Given the description of an element on the screen output the (x, y) to click on. 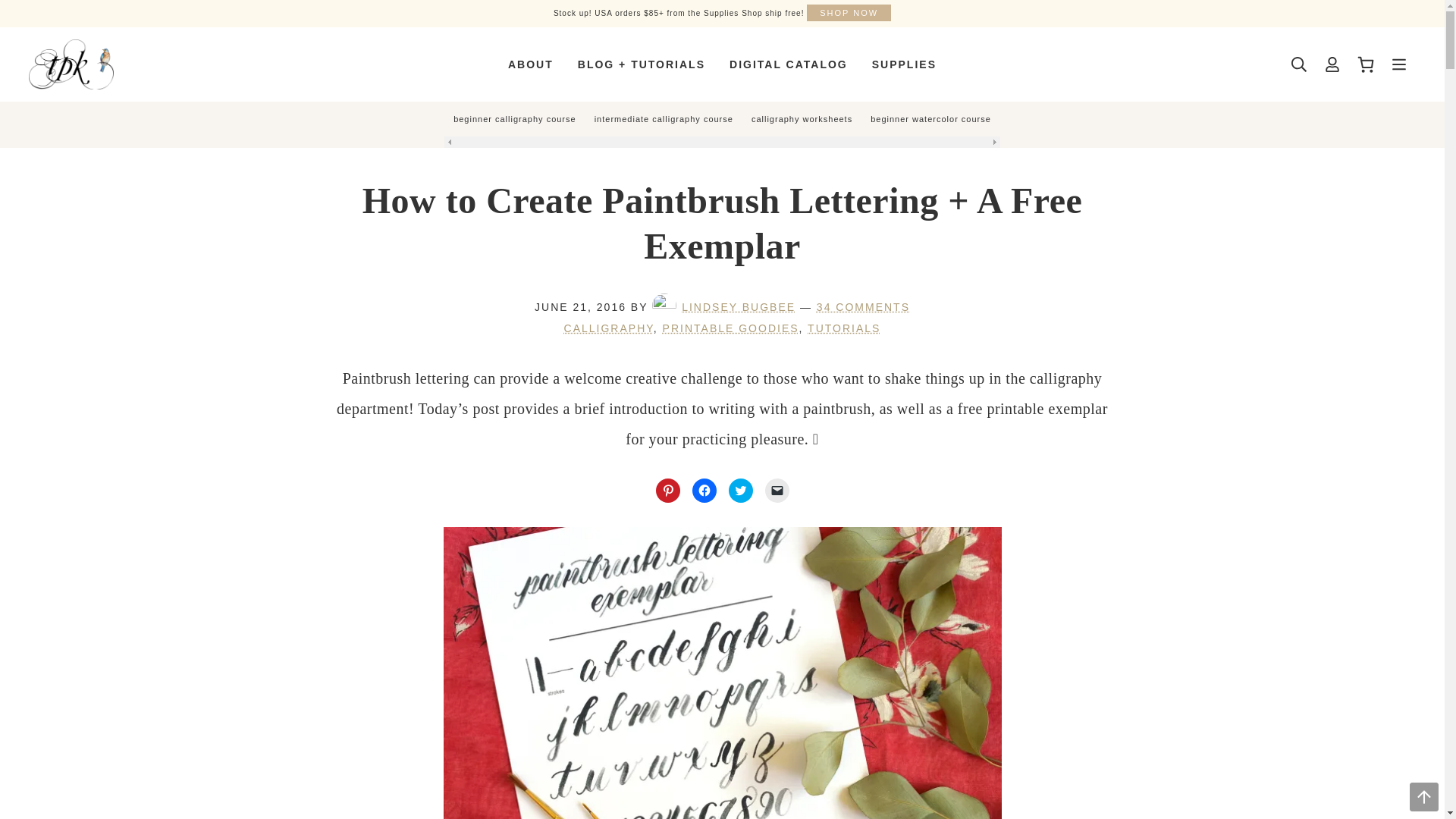
Click to share on Facebook (703, 490)
Click to share on Twitter (740, 490)
Click to share on Pinterest (667, 490)
Click to email a link to a friend (776, 490)
SHOP NOW (848, 12)
